Given the description of an element on the screen output the (x, y) to click on. 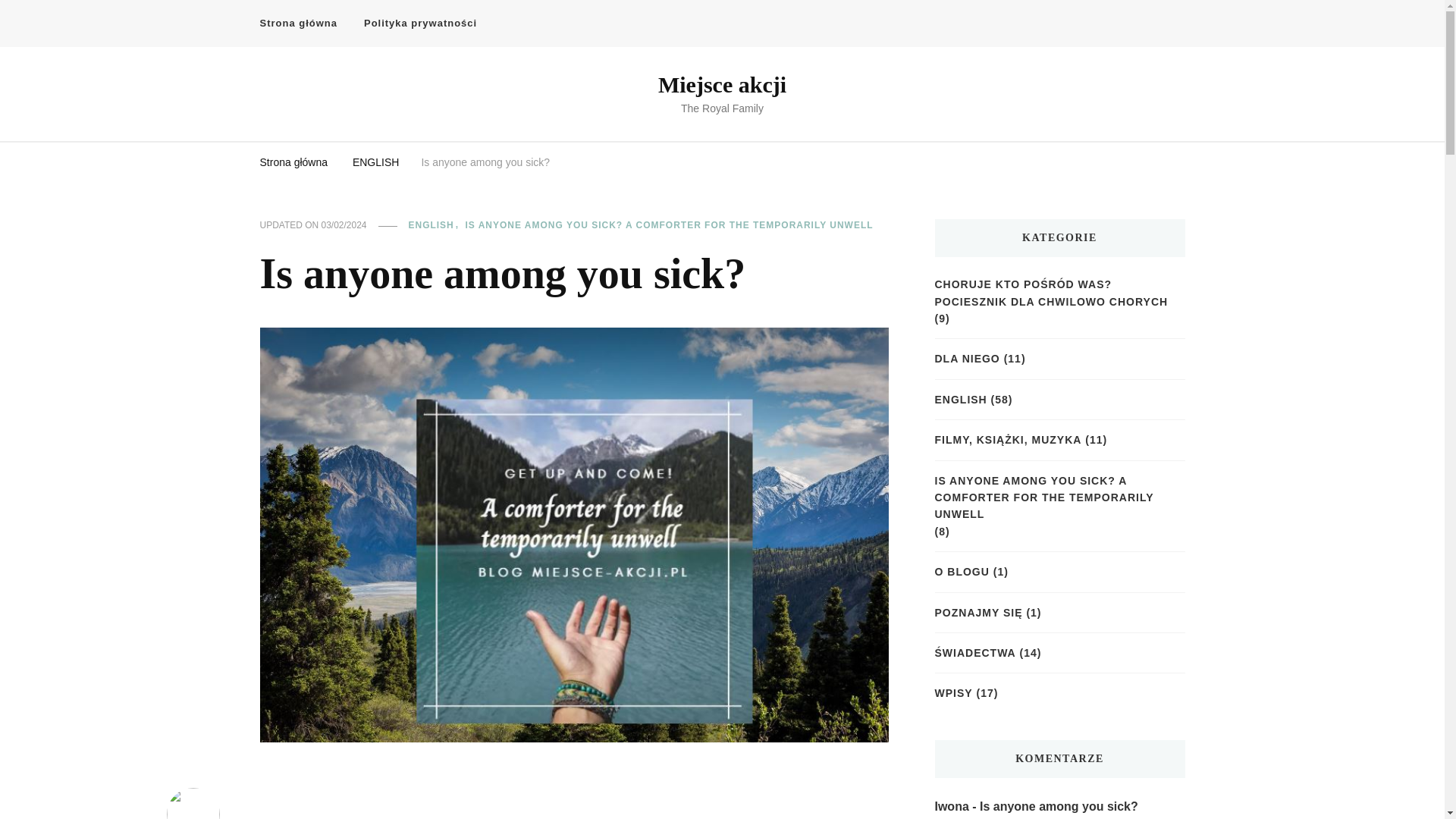
ENGLISH (375, 161)
Miejsce akcji (722, 84)
Is anyone among you sick? (485, 161)
ENGLISH (435, 225)
Szukaj (1148, 27)
IWONA (193, 803)
